Given the description of an element on the screen output the (x, y) to click on. 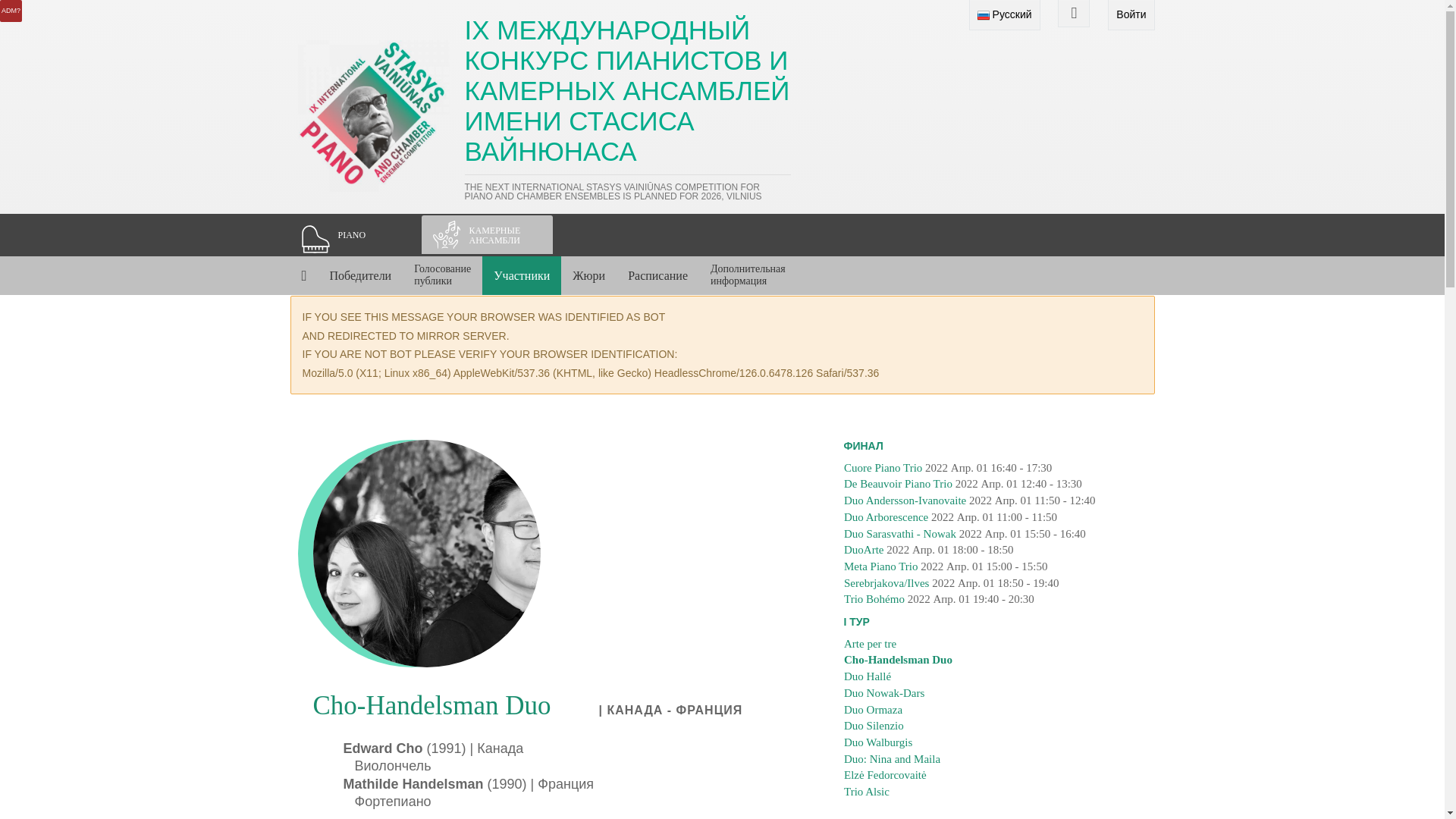
Sign in with facebook (1073, 13)
PIANO (354, 235)
